Given the description of an element on the screen output the (x, y) to click on. 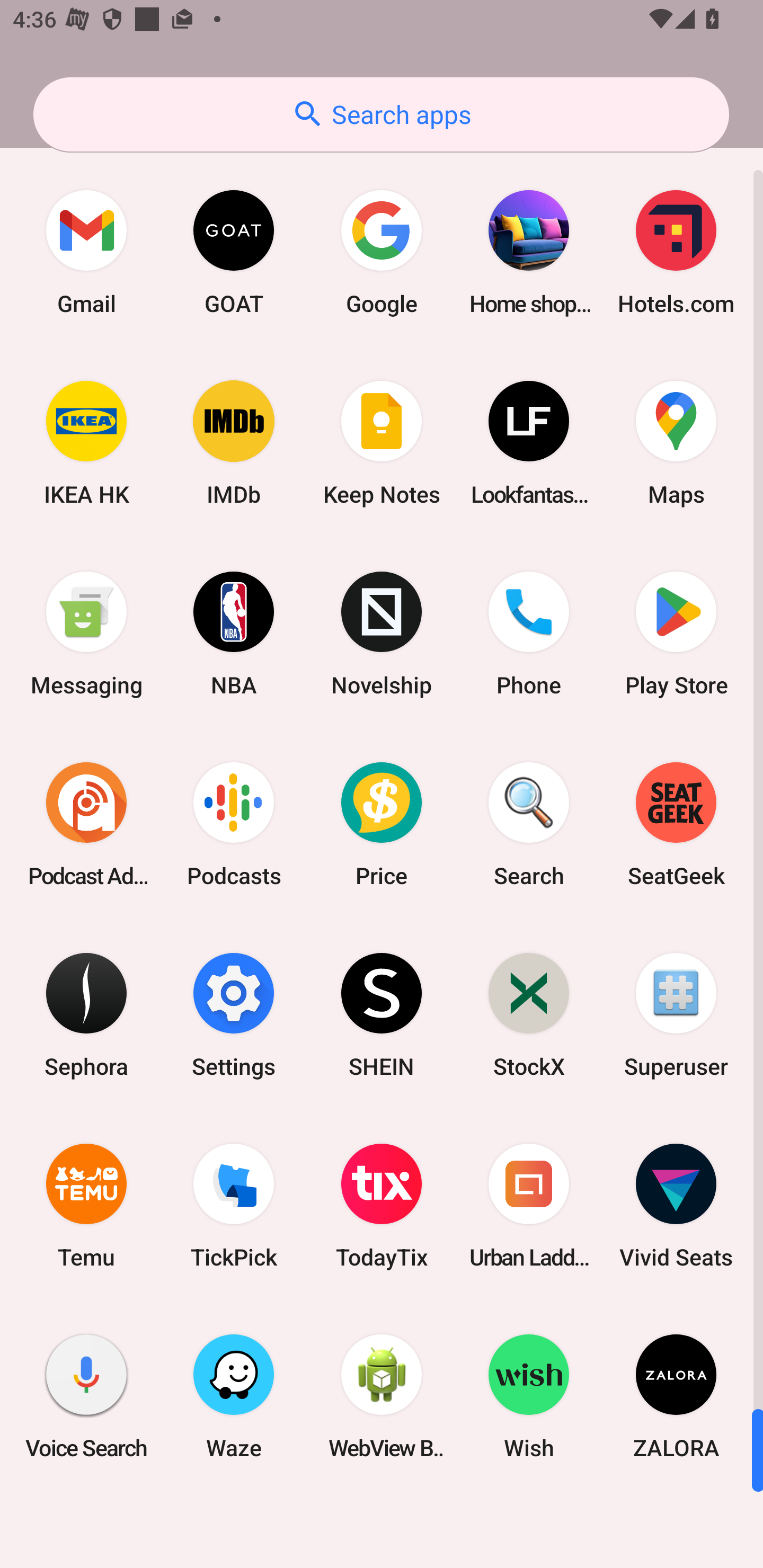
  Search apps (381, 114)
Gmail (86, 252)
GOAT (233, 252)
Google (381, 252)
Home shopping (528, 252)
Hotels.com (676, 252)
IKEA HK (86, 442)
IMDb (233, 442)
Keep Notes (381, 442)
Lookfantastic (528, 442)
Maps (676, 442)
Messaging (86, 633)
NBA (233, 633)
Novelship (381, 633)
Phone (528, 633)
Play Store (676, 633)
Podcast Addict (86, 823)
Podcasts (233, 823)
Price (381, 823)
Search (528, 823)
SeatGeek (676, 823)
Sephora (86, 1014)
Settings (233, 1014)
SHEIN (381, 1014)
StockX (528, 1014)
Superuser (676, 1014)
Temu (86, 1205)
TickPick (233, 1205)
TodayTix (381, 1205)
Urban Ladder (528, 1205)
Vivid Seats (676, 1205)
Voice Search (86, 1396)
Waze (233, 1396)
WebView Browser Tester (381, 1396)
Wish (528, 1396)
ZALORA (676, 1396)
